Given the description of an element on the screen output the (x, y) to click on. 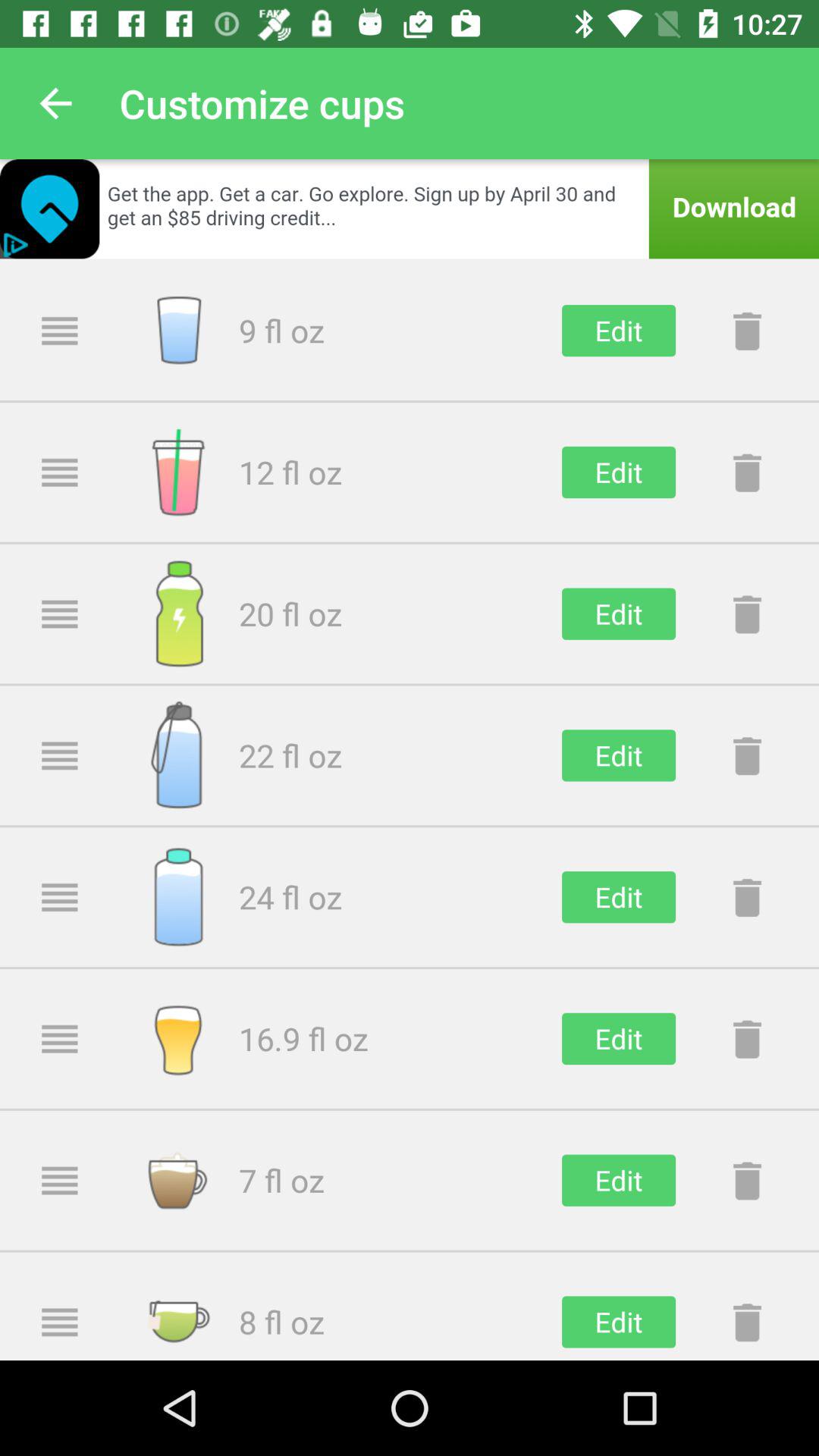
open the advertisement (409, 208)
